Given the description of an element on the screen output the (x, y) to click on. 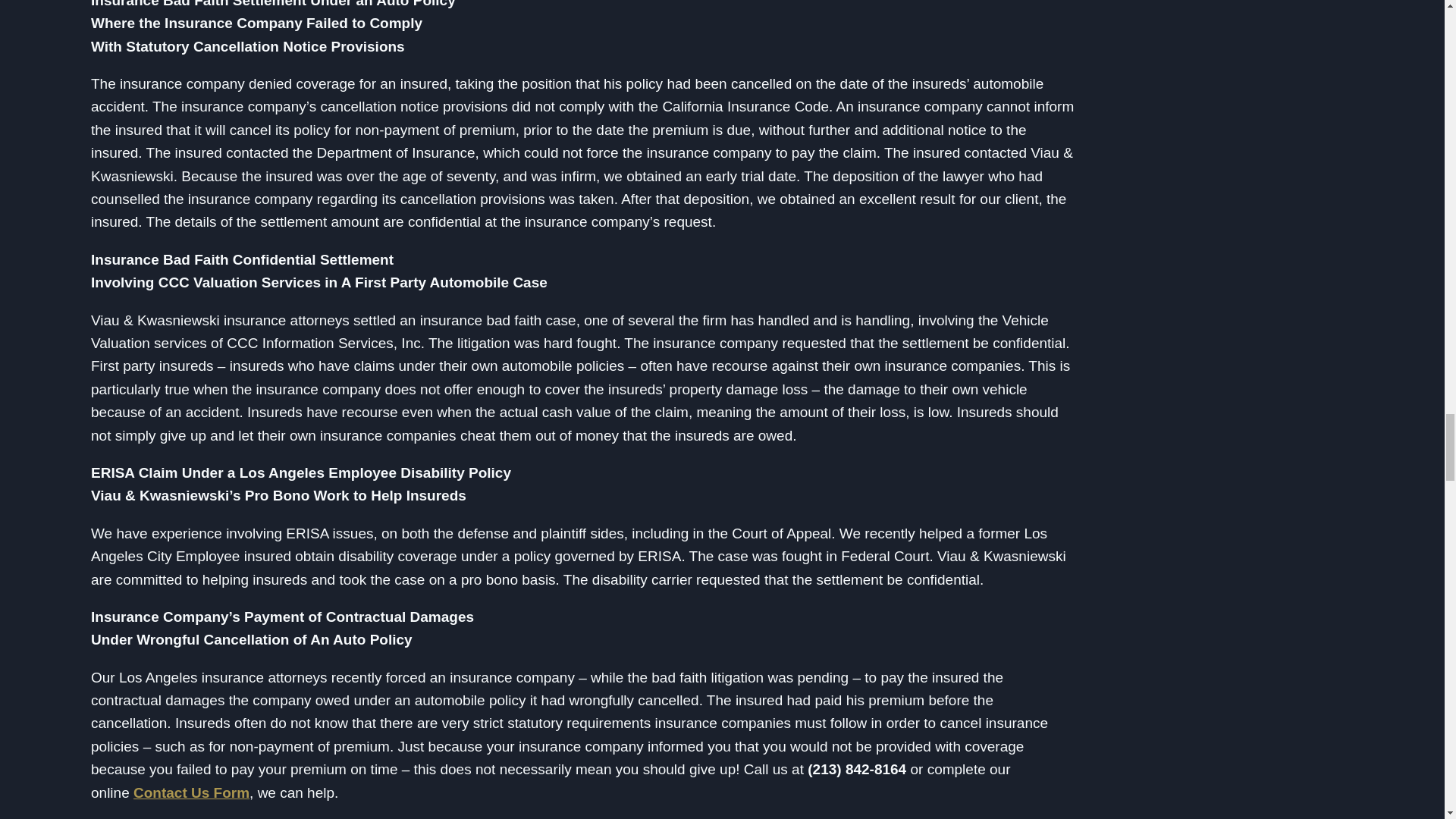
Contact Us Form (190, 792)
